Given the description of an element on the screen output the (x, y) to click on. 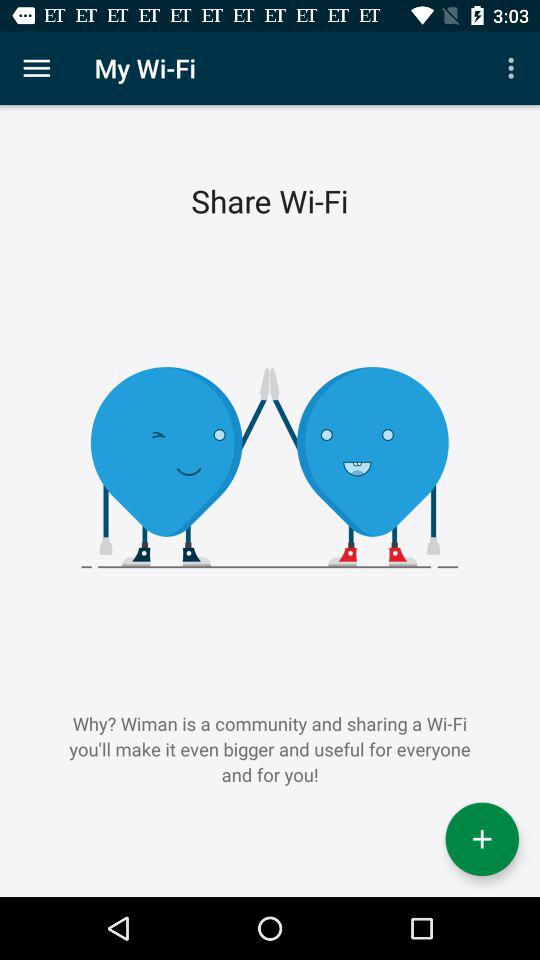
open the menu (36, 68)
